Given the description of an element on the screen output the (x, y) to click on. 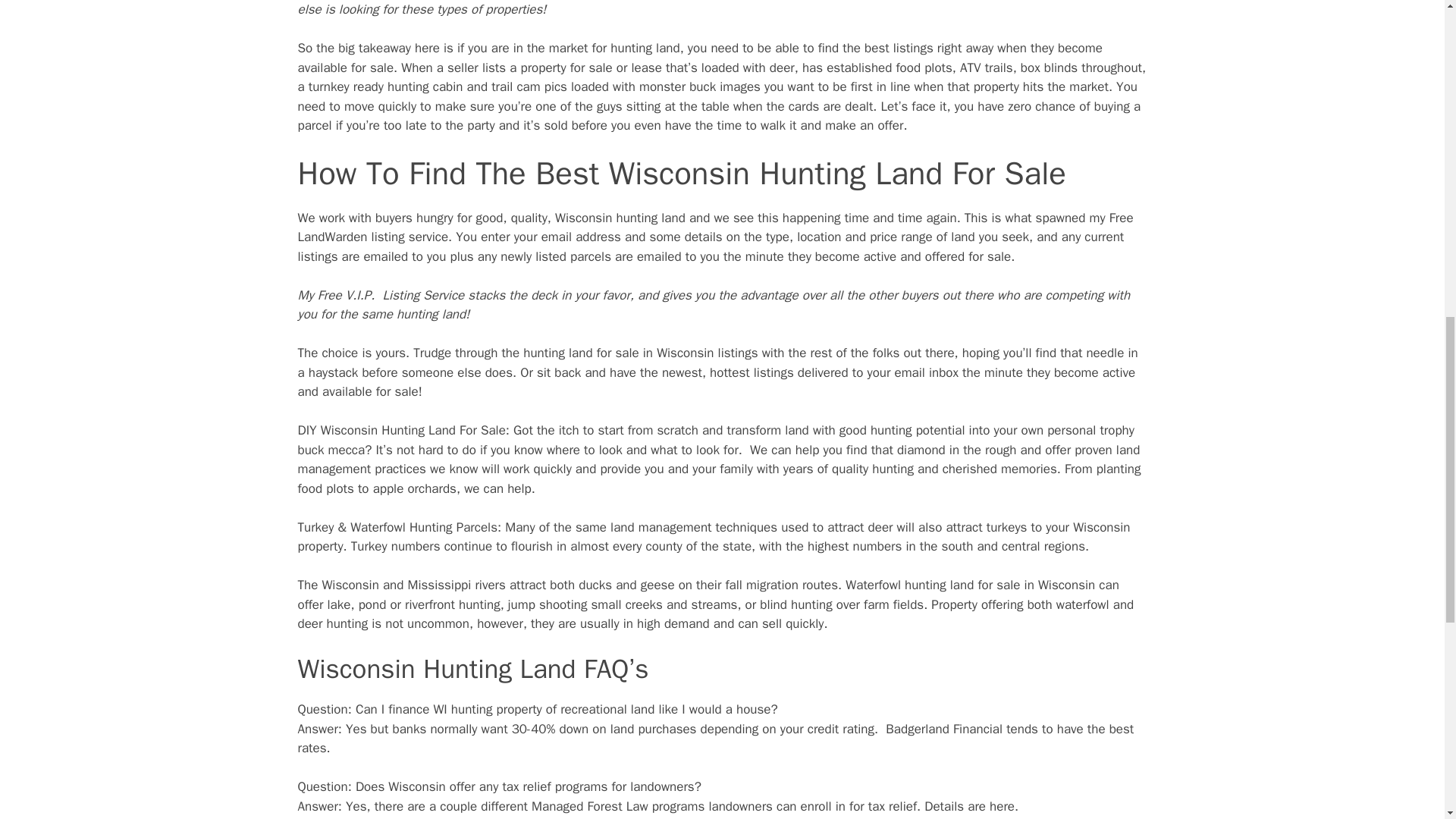
Badgerland Financial (944, 729)
lease (645, 67)
My Free V.I.P.  Listing Service (380, 295)
here (1002, 806)
